Given the description of an element on the screen output the (x, y) to click on. 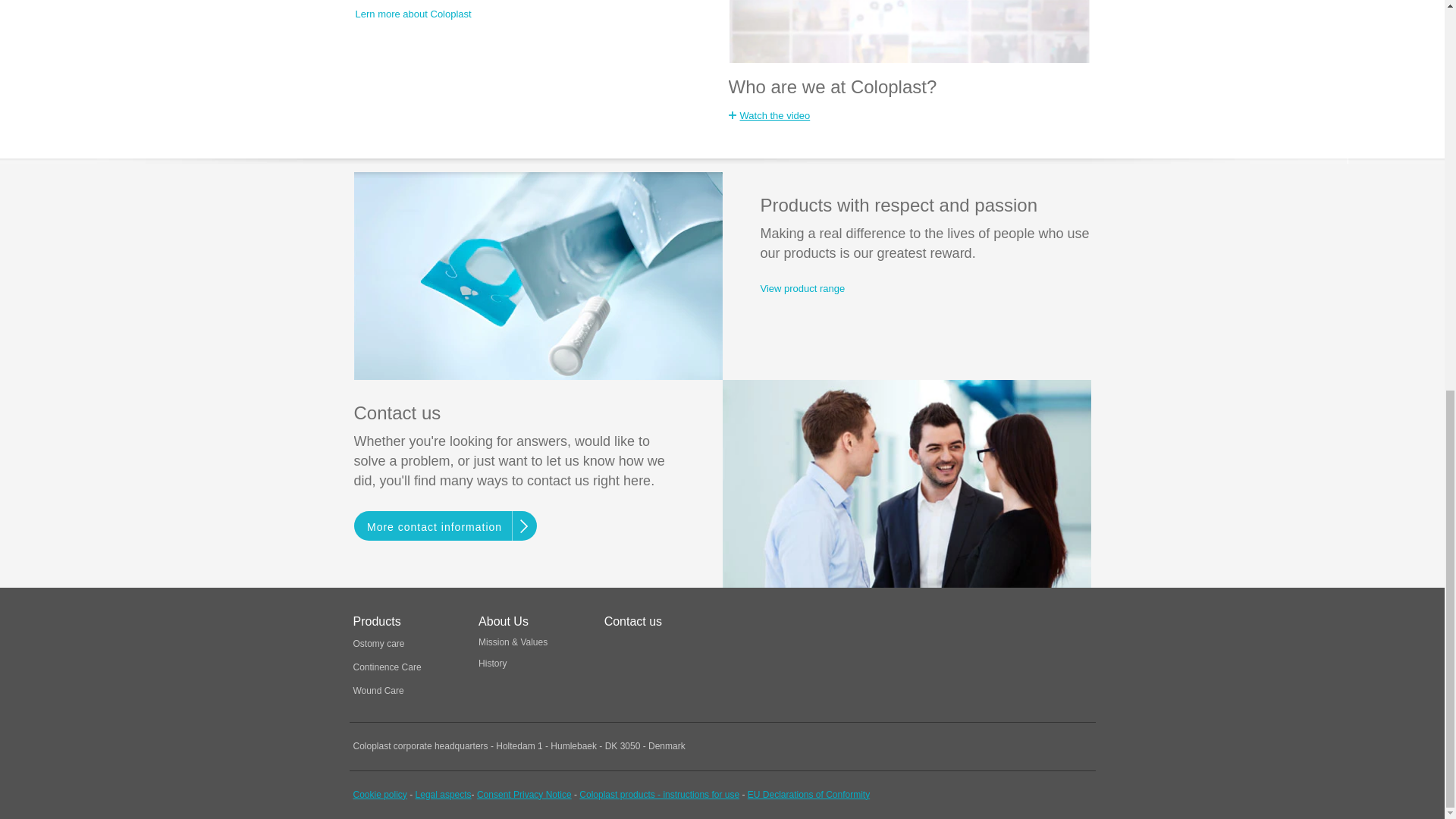
Cookie policy (380, 794)
Legal aspects (442, 794)
Ostomy care (378, 643)
